Given the description of an element on the screen output the (x, y) to click on. 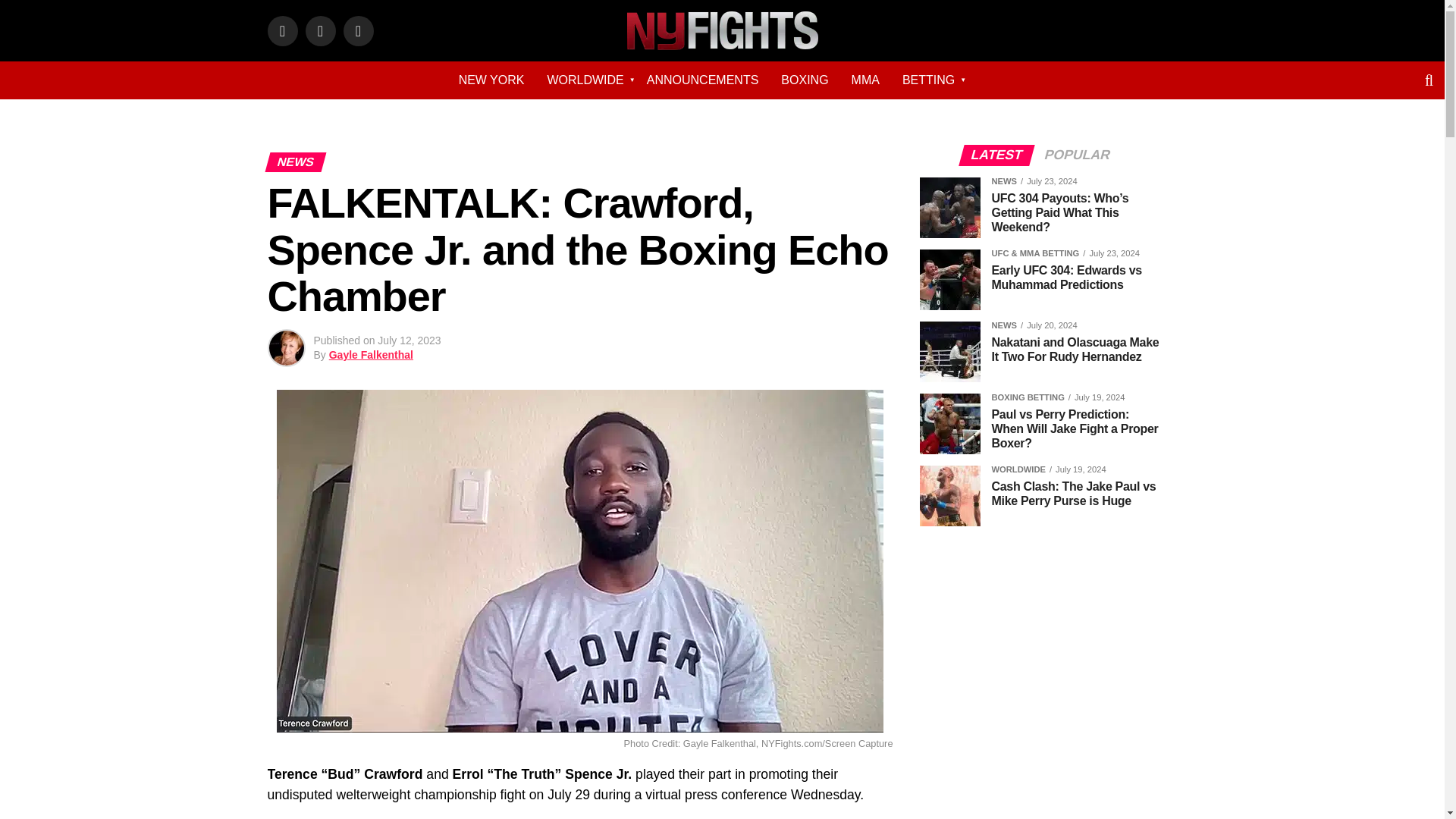
ANNOUNCEMENTS (702, 80)
BETTING (928, 80)
BOXING (805, 80)
WORLDWIDE (584, 80)
NEW YORK (490, 80)
MMA (865, 80)
